Given the description of an element on the screen output the (x, y) to click on. 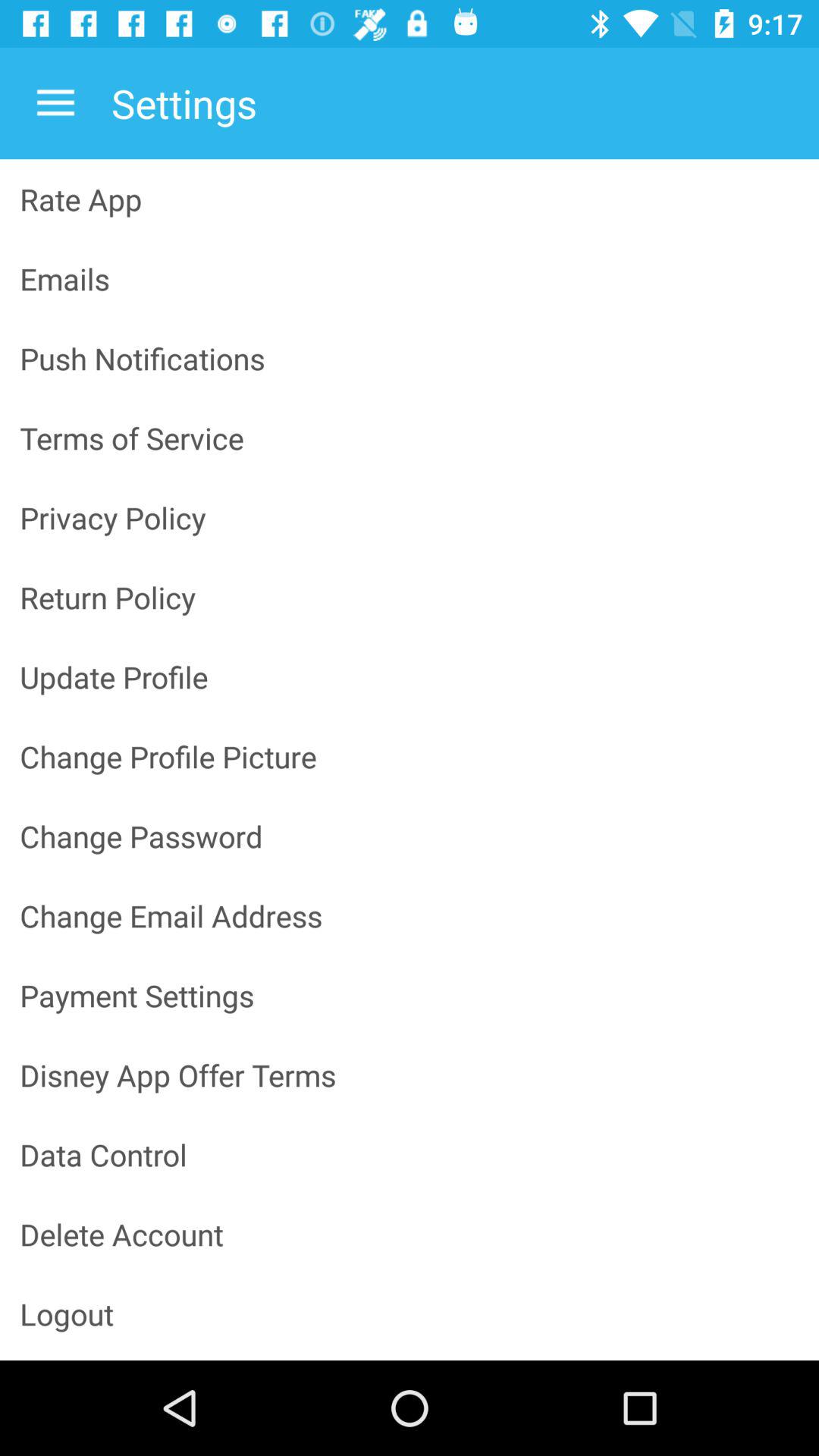
choose the item below change password item (409, 915)
